Given the description of an element on the screen output the (x, y) to click on. 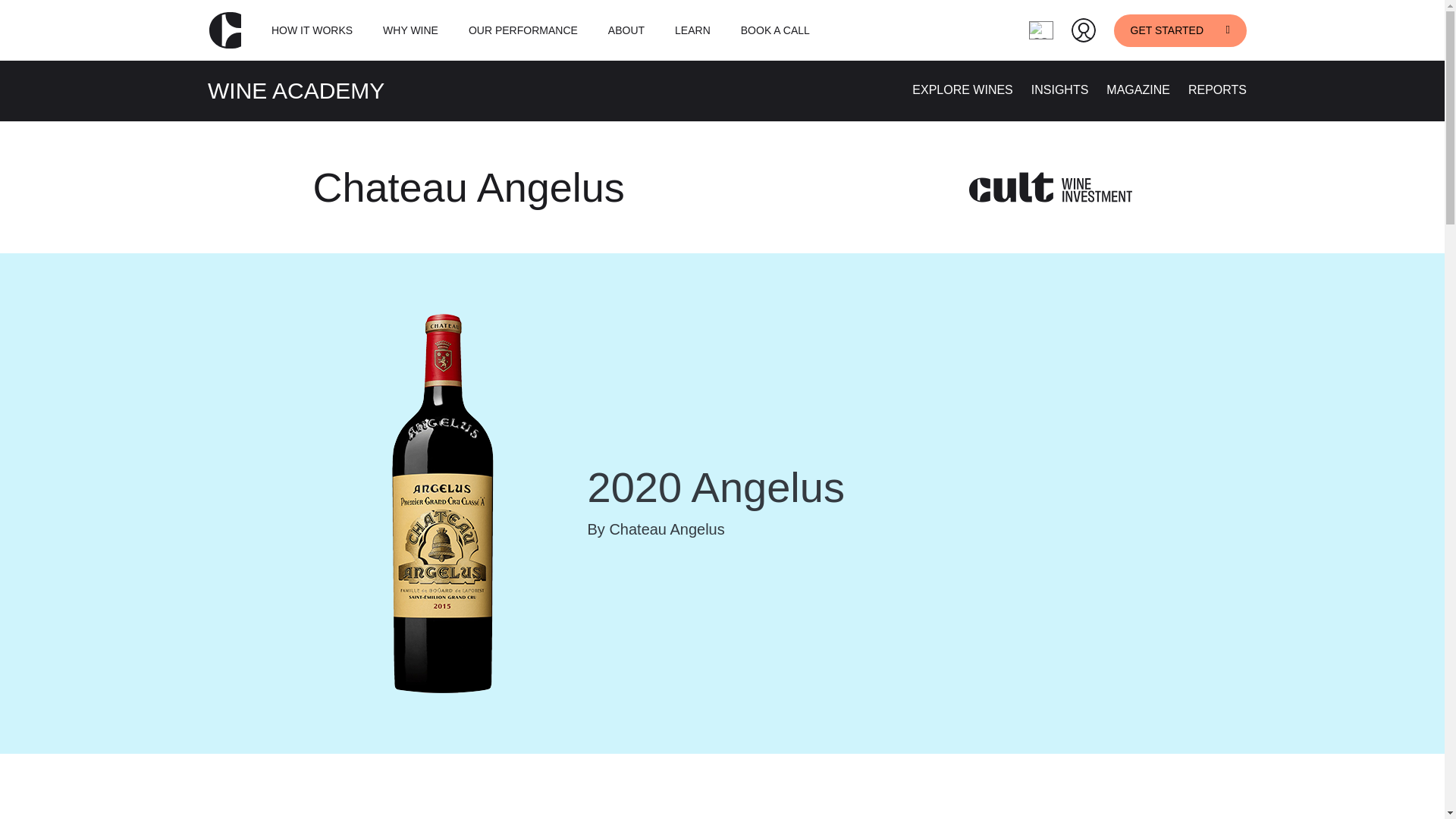
EXPLORE WINES (961, 90)
REPORTS (1217, 90)
BOOK A CALL (775, 30)
INSIGHTS (1059, 90)
Chateau Angelus (468, 186)
WINE ACADEMY (296, 90)
GET STARTED (1179, 29)
MAGAZINE (1138, 90)
WHY WINE (410, 30)
HOW IT WORKS (311, 30)
